Given the description of an element on the screen output the (x, y) to click on. 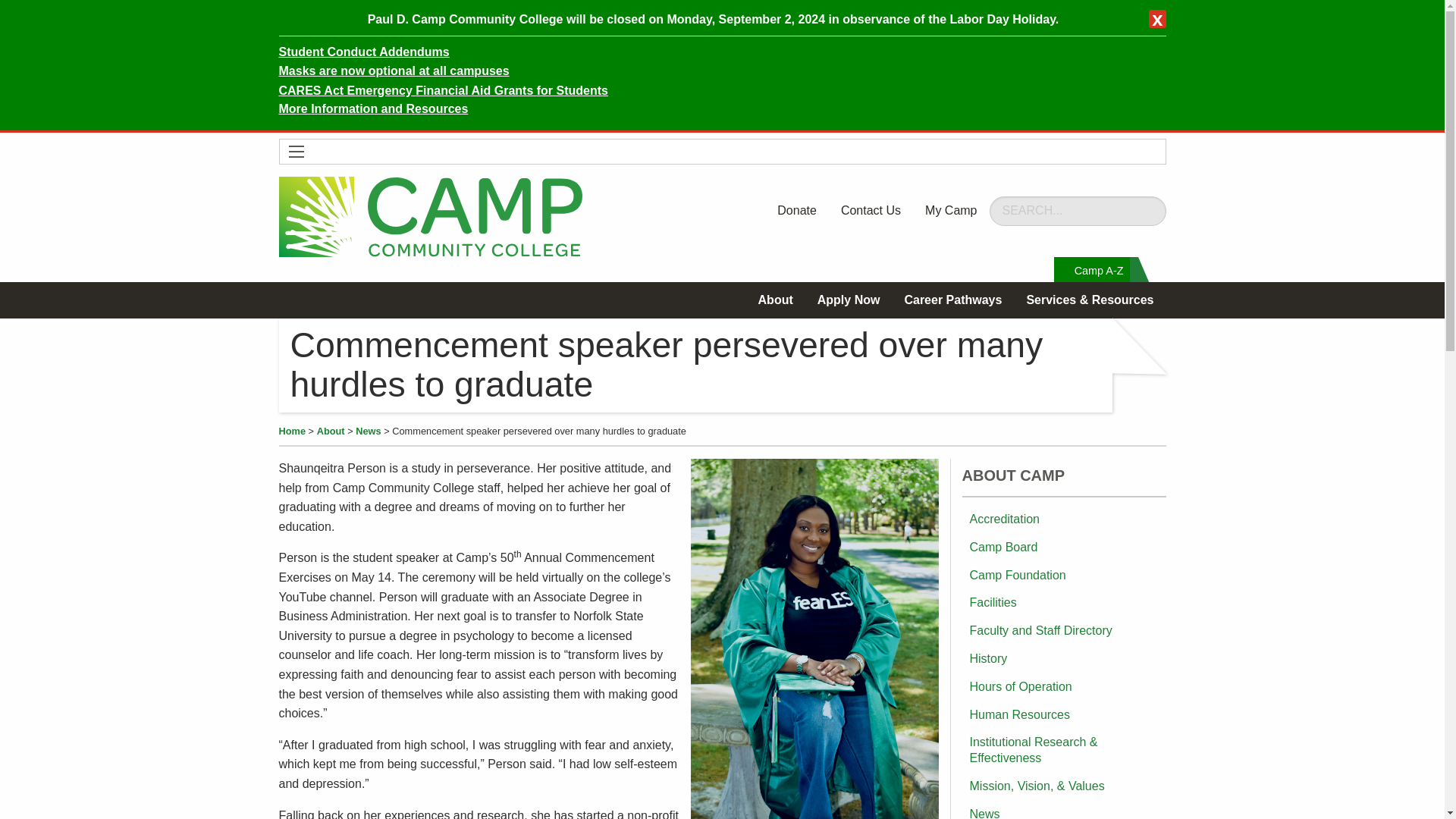
Masks are now optional at all campuses (394, 70)
More Information and Resources (373, 108)
submit (1153, 219)
About (775, 299)
Contact Us (870, 210)
My Camp (950, 210)
x (1157, 18)
Donate (796, 210)
CARES Act Emergency Financial Aid Grants for Students (443, 90)
Student Conduct Addendums (364, 51)
